Given the description of an element on the screen output the (x, y) to click on. 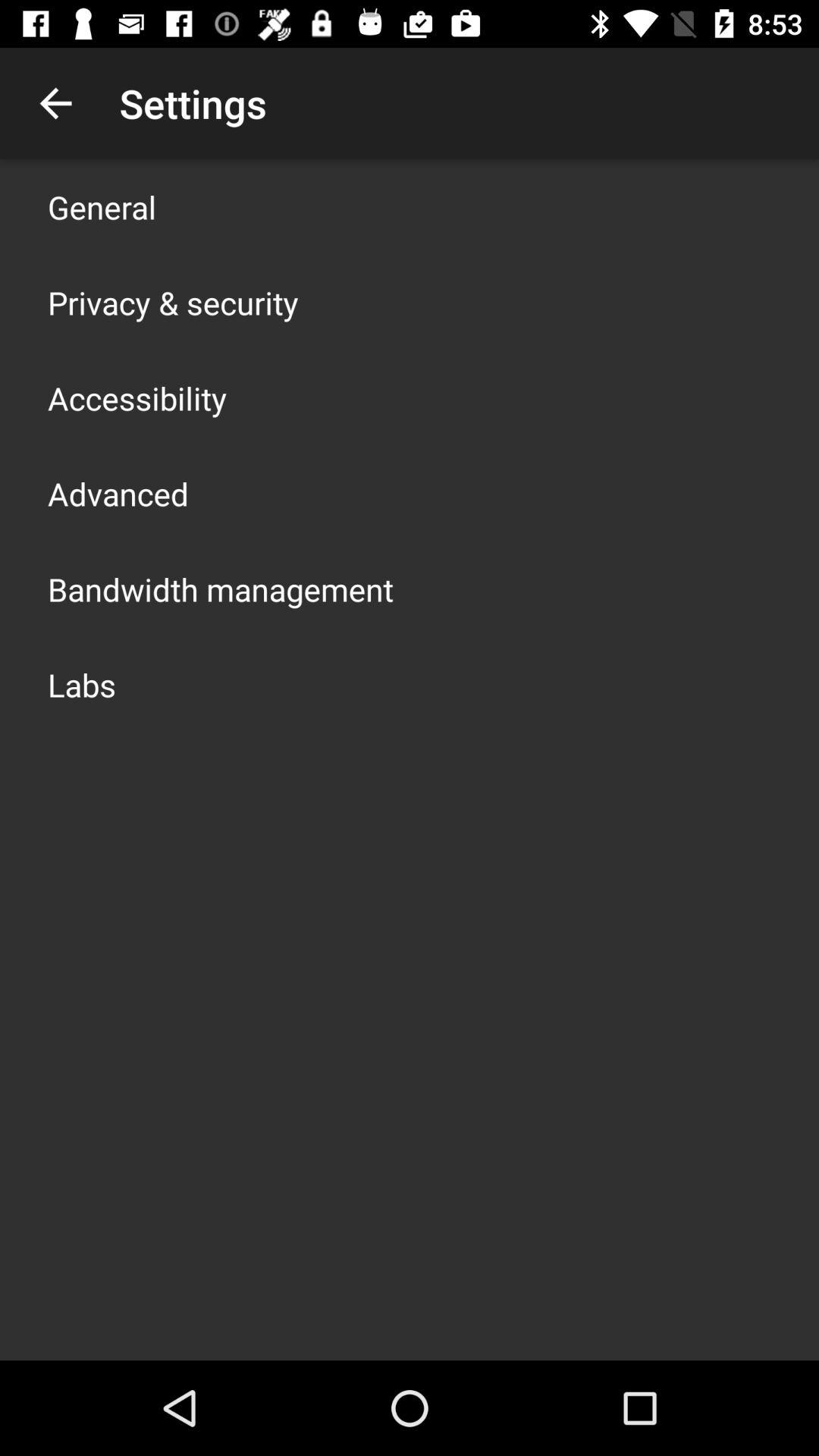
launch the accessibility item (136, 397)
